Given the description of an element on the screen output the (x, y) to click on. 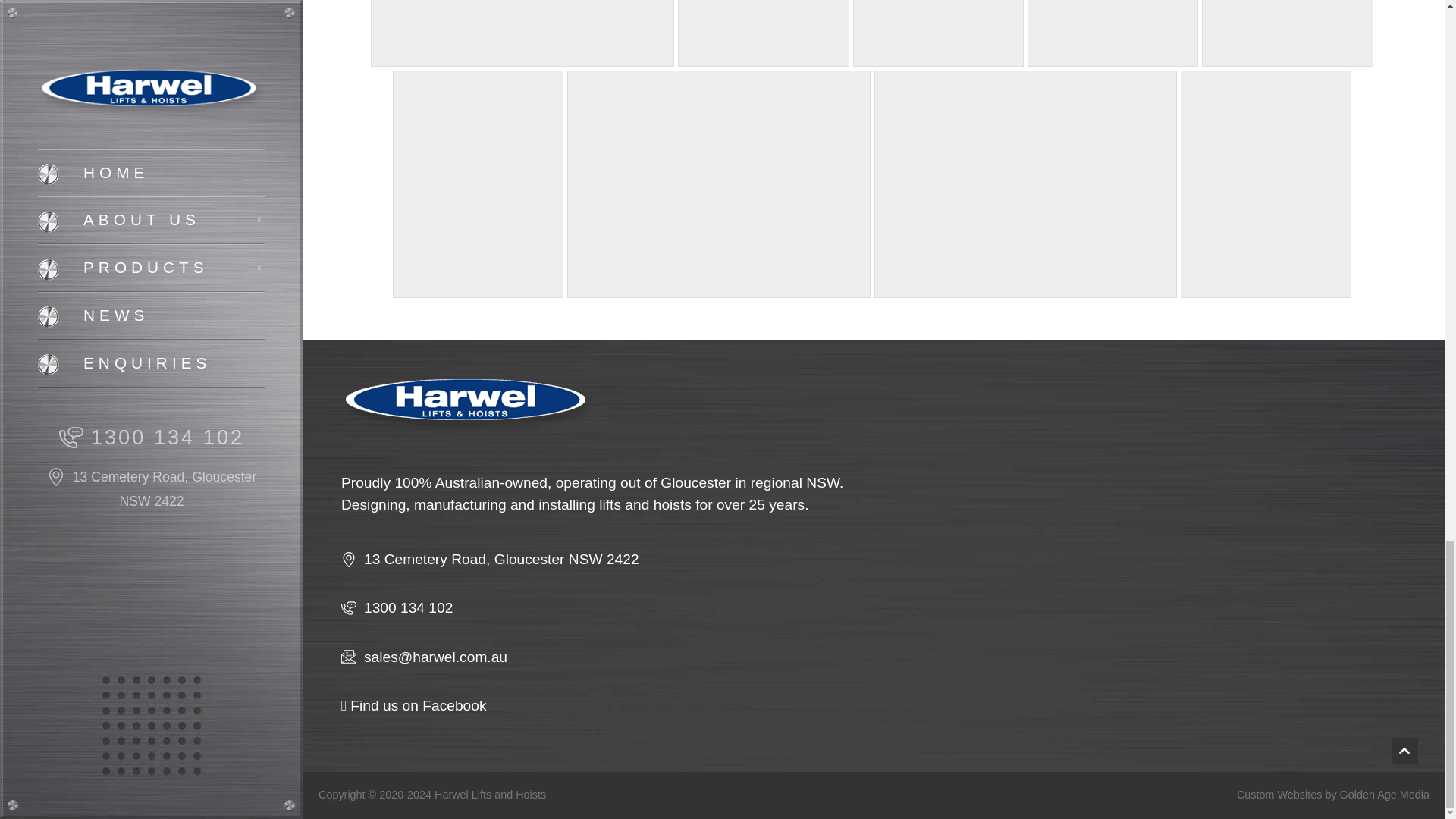
Website Design Services (1384, 794)
Website Design Services (1279, 794)
